Given the description of an element on the screen output the (x, y) to click on. 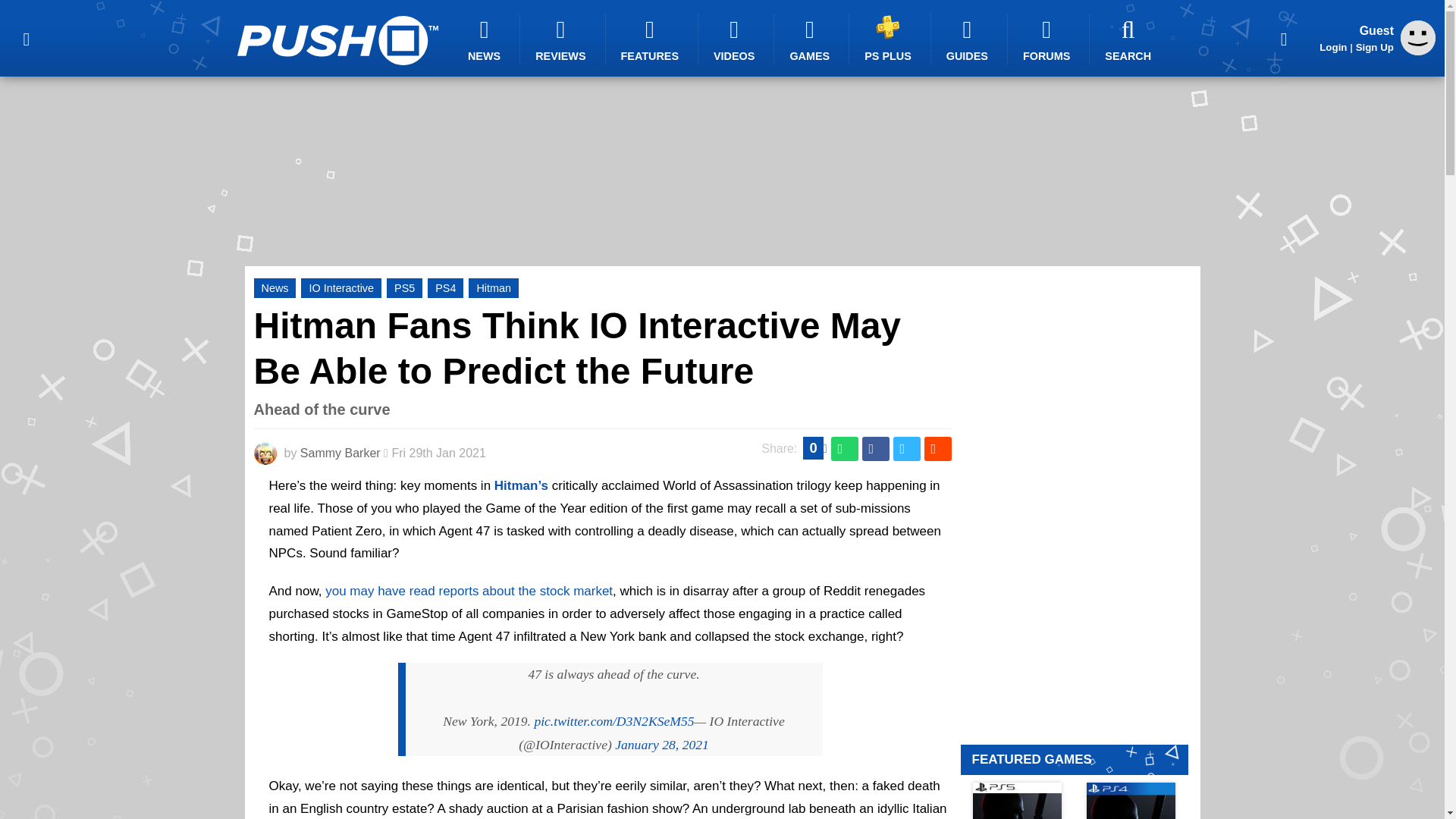
SEARCH (1129, 39)
Guest (1417, 51)
REVIEWS (562, 39)
Sign Up (1374, 47)
Push Square (336, 40)
Share This Page (1283, 37)
Guest (1417, 37)
FEATURES (651, 39)
Login (1332, 47)
VIDEOS (736, 39)
